Given the description of an element on the screen output the (x, y) to click on. 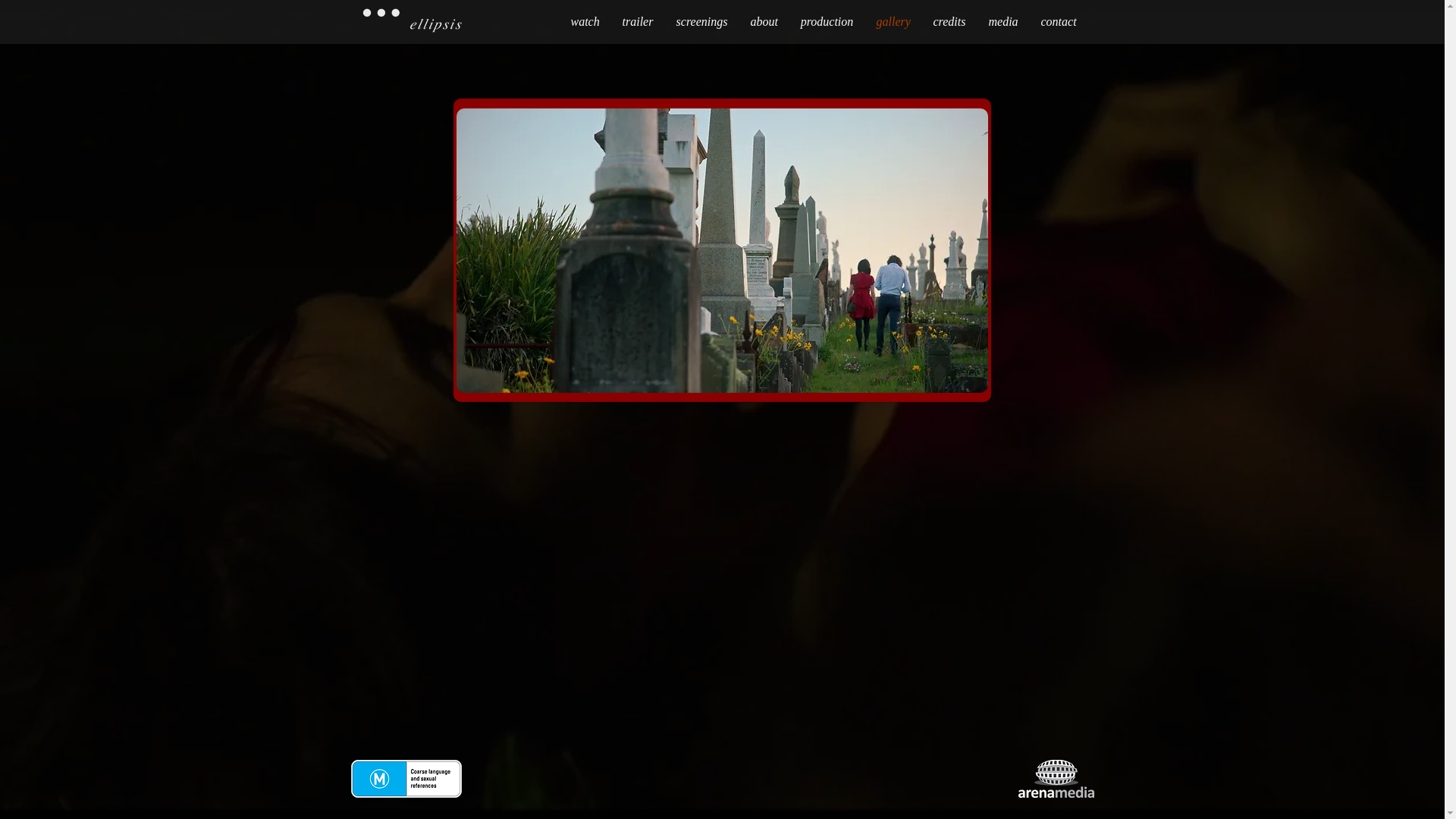
screenings Element type: text (701, 21)
contact Element type: text (1058, 21)
watch Element type: text (585, 21)
about Element type: text (763, 21)
trailer Element type: text (638, 21)
media Element type: text (1002, 21)
credits Element type: text (949, 21)
gallery Element type: text (892, 21)
production Element type: text (826, 21)
